Given the description of an element on the screen output the (x, y) to click on. 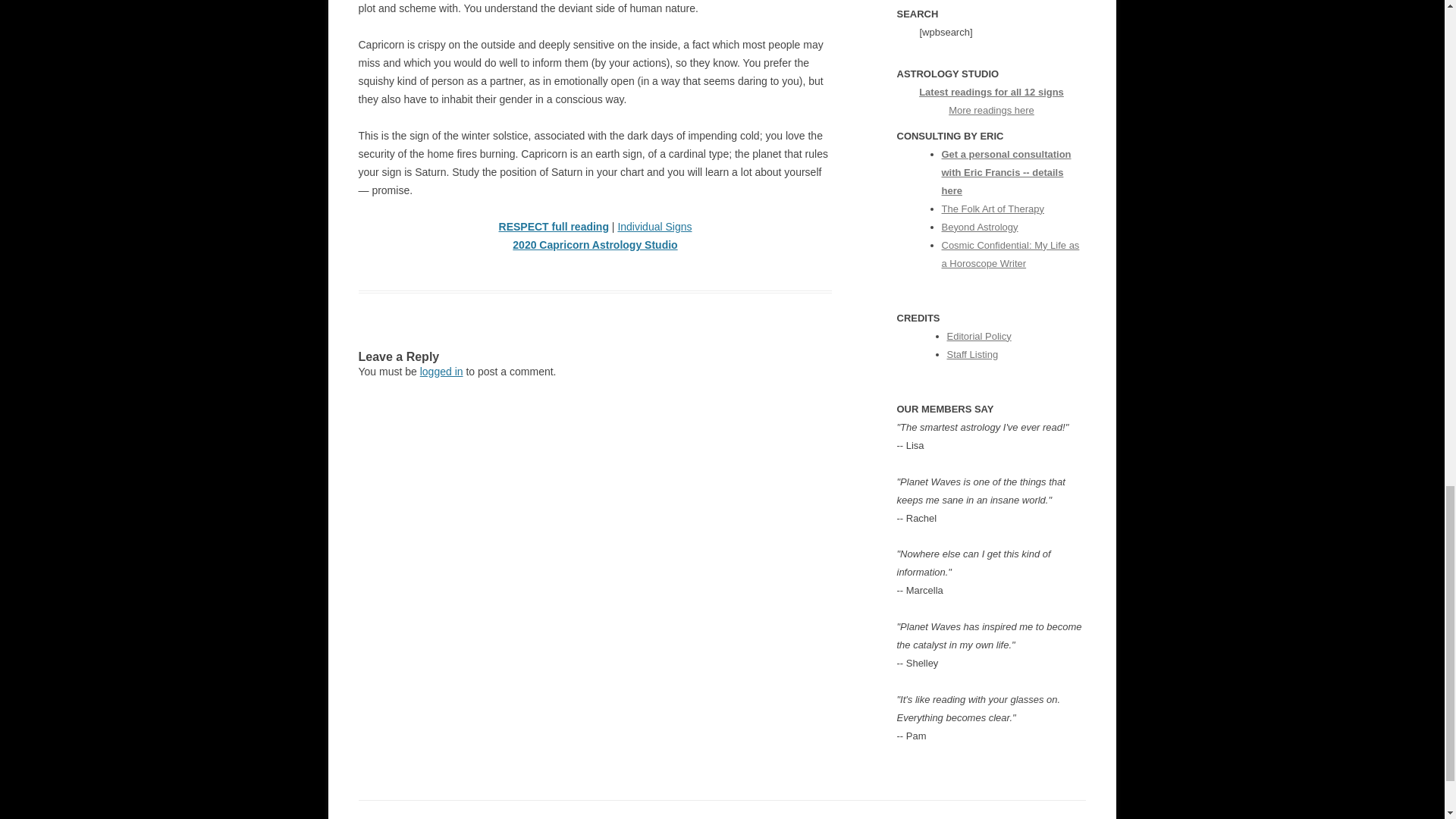
RESPECT full reading (553, 226)
Individual Signs (654, 226)
2020 Capricorn Astrology Studio (594, 244)
logged in (441, 371)
